Given the description of an element on the screen output the (x, y) to click on. 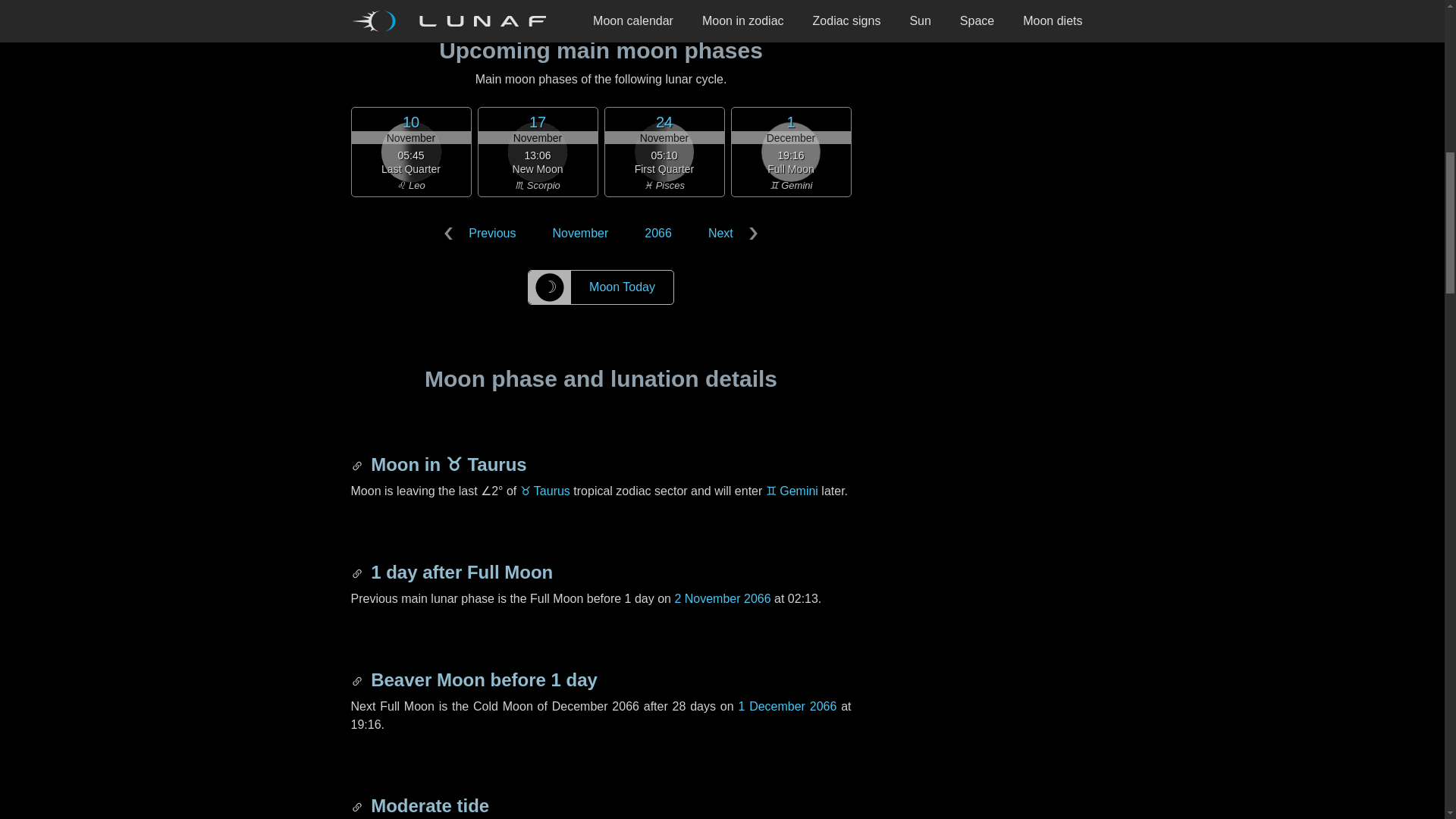
Previous (483, 233)
1 December 2066 (786, 706)
2066 (658, 233)
2 November 2066 (722, 598)
Next (730, 233)
November (580, 233)
